Given the description of an element on the screen output the (x, y) to click on. 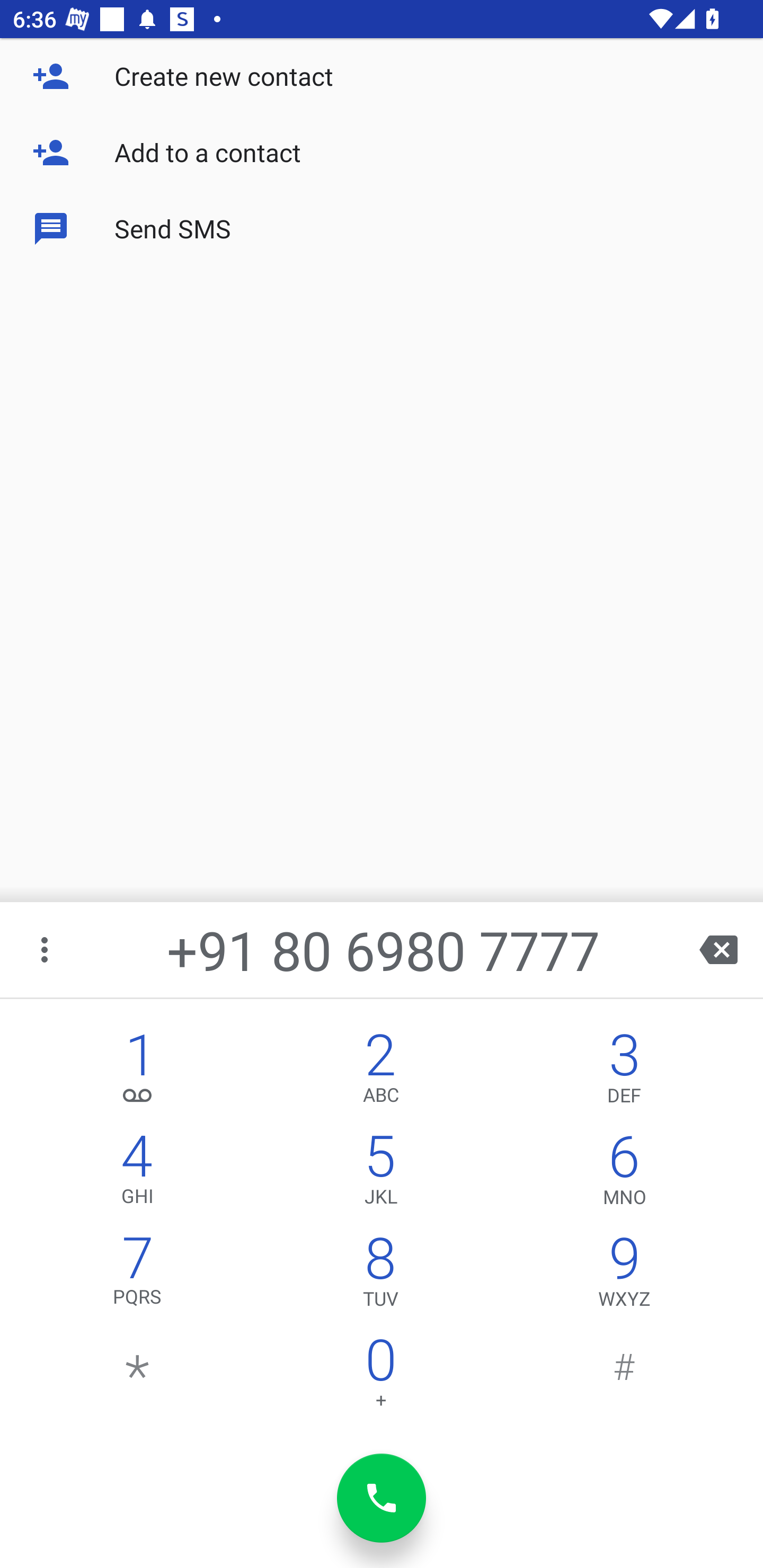
Create new contact (381, 75)
Add to a contact (381, 152)
Send SMS (381, 228)
+91 80 6980 7777 (382, 949)
backspace (718, 949)
More options (45, 949)
1, 1 (137, 1071)
2,ABC 2 ABC (380, 1071)
3,DEF 3 DEF (624, 1071)
4,GHI 4 GHI (137, 1173)
5,JKL 5 JKL (380, 1173)
6,MNO 6 MNO (624, 1173)
7,PQRS 7 PQRS (137, 1275)
8,TUV 8 TUV (380, 1275)
9,WXYZ 9 WXYZ (624, 1275)
* (137, 1377)
0 0 + (380, 1377)
# (624, 1377)
dial (381, 1497)
